Given the description of an element on the screen output the (x, y) to click on. 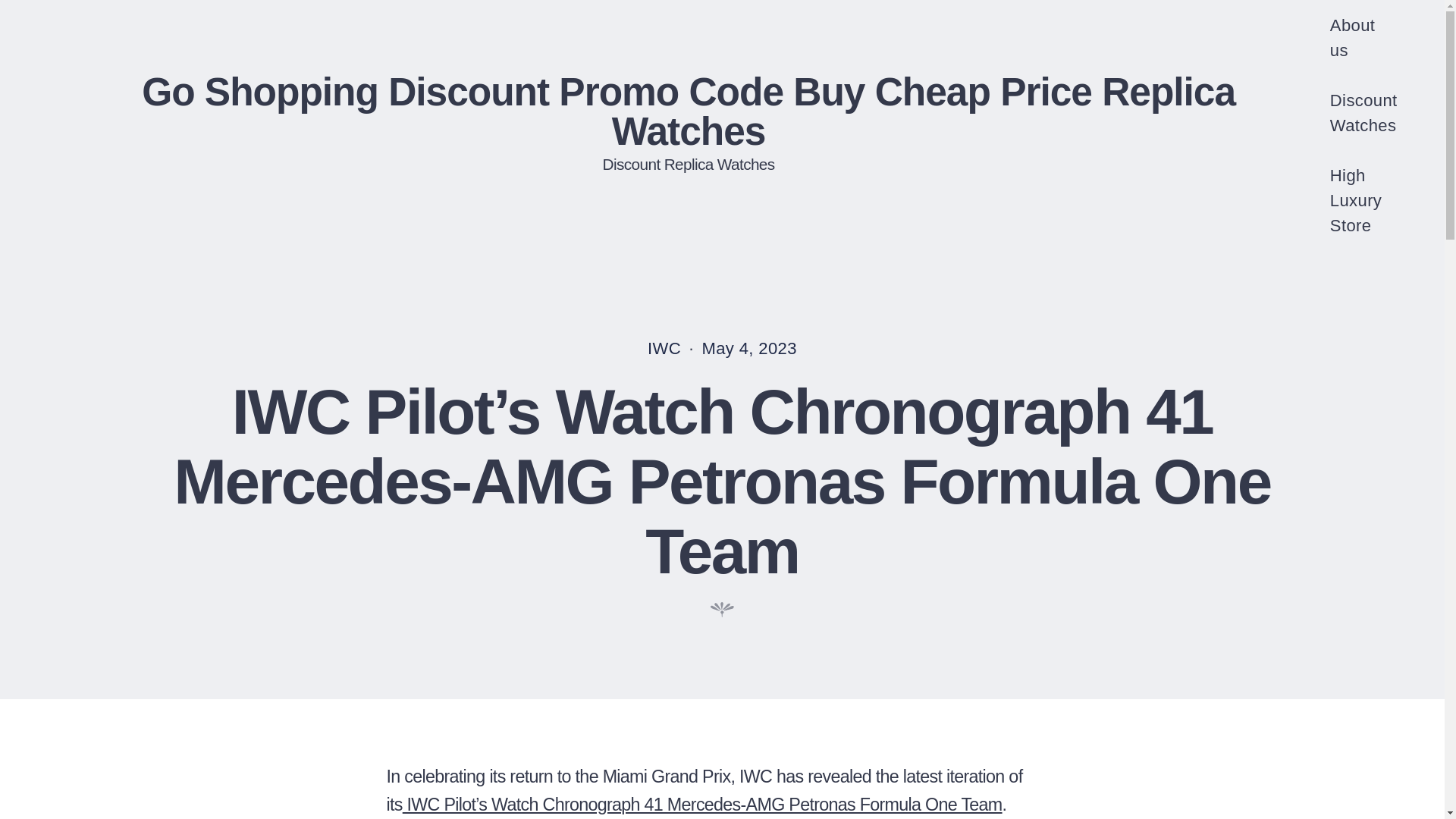
May 4, 2023 (748, 348)
Discount Watches (1363, 108)
IWC (664, 348)
About us (1363, 33)
